Given the description of an element on the screen output the (x, y) to click on. 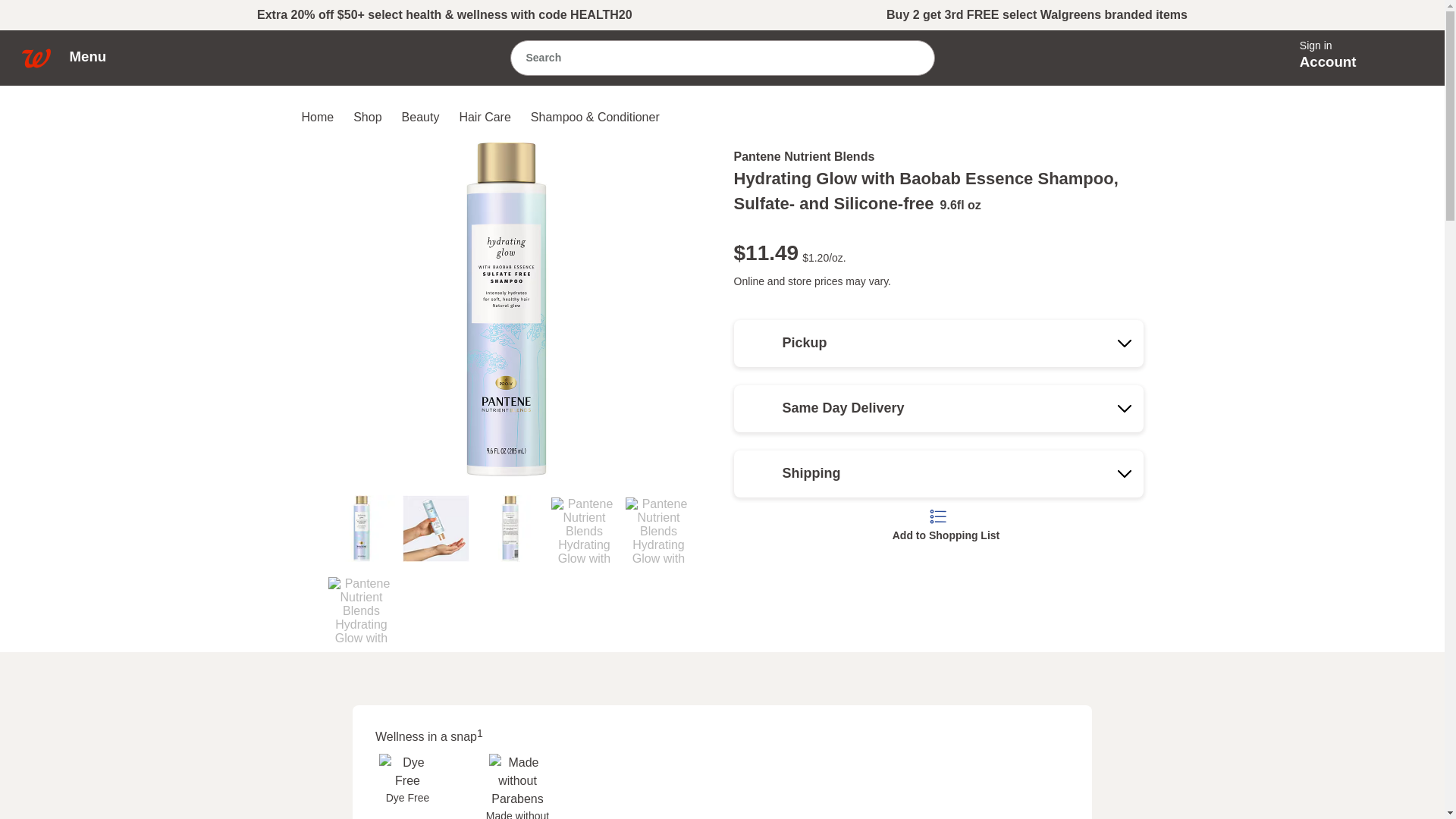
Search (707, 57)
Shopping cart (1406, 56)
Menu (95, 55)
Search (722, 786)
Buy 2 get 3rd FREE select Walgreens branded items (909, 57)
Sign in (1037, 15)
